Given the description of an element on the screen output the (x, y) to click on. 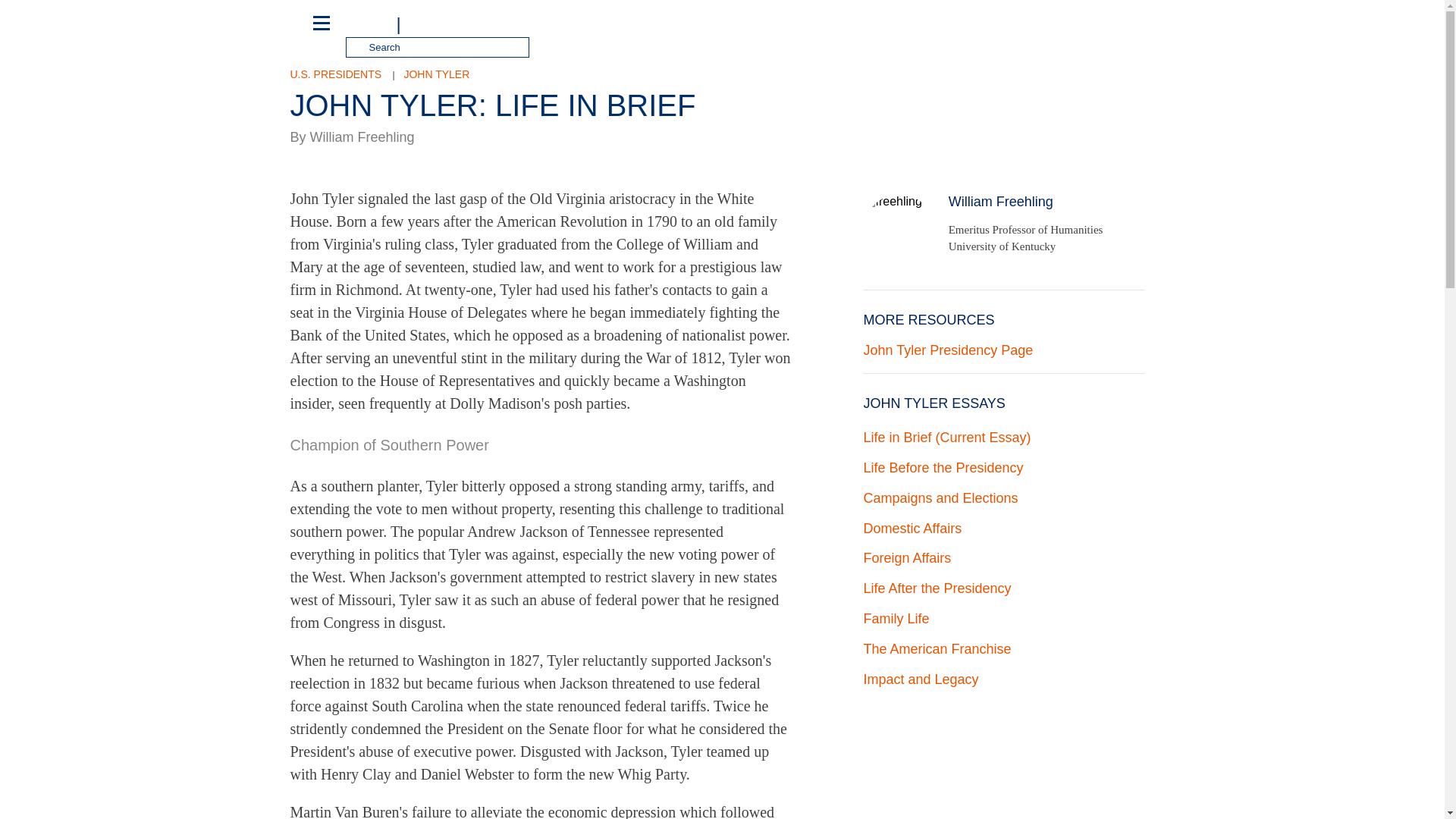
Home (469, 22)
University of Virginia (369, 22)
